Given the description of an element on the screen output the (x, y) to click on. 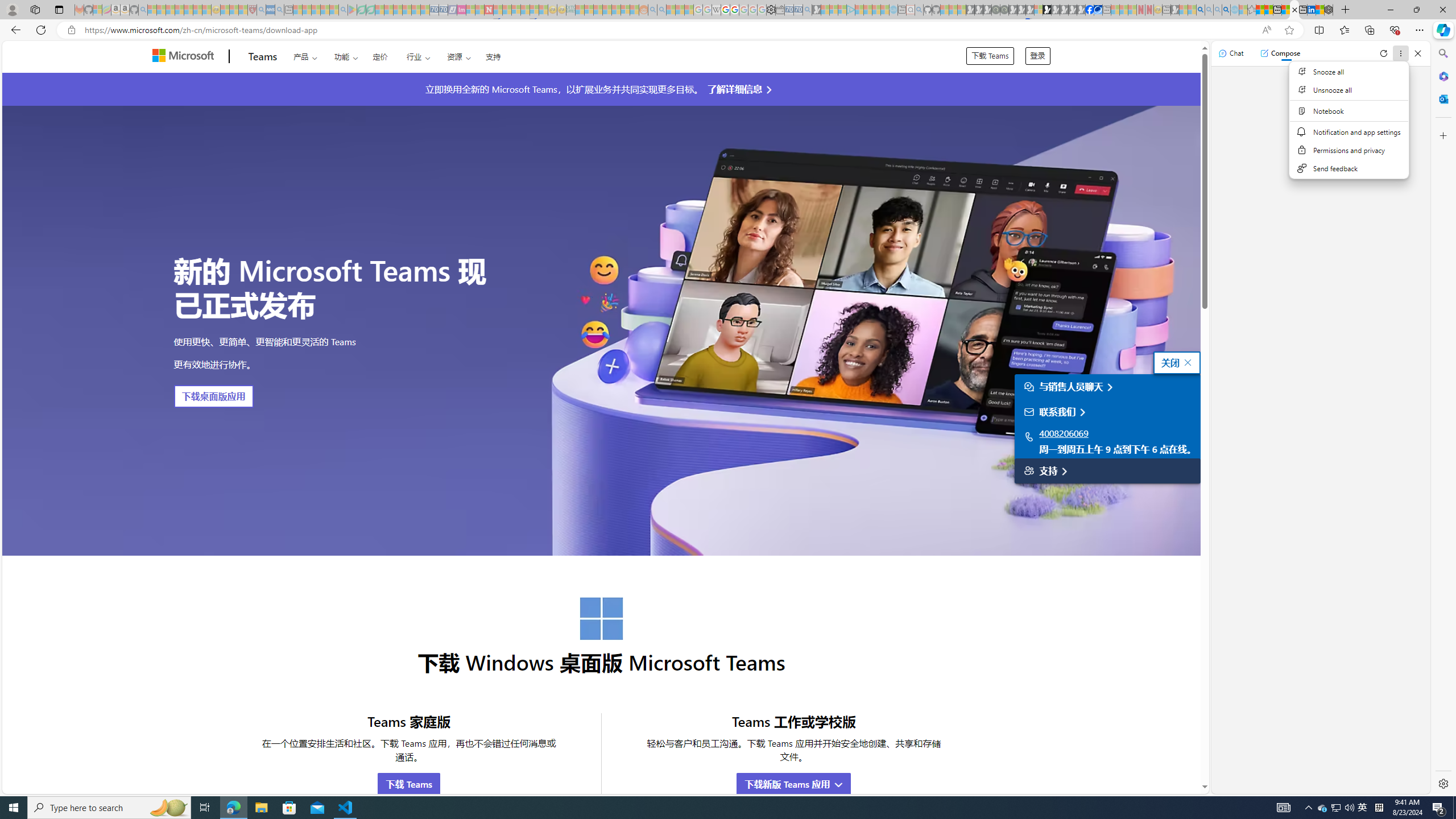
Target page - Wikipedia - Sleeping (716, 9)
Terms of Use Agreement - Sleeping (361, 9)
14 Common Myths Debunked By Scientific Facts - Sleeping (506, 9)
